Given the description of an element on the screen output the (x, y) to click on. 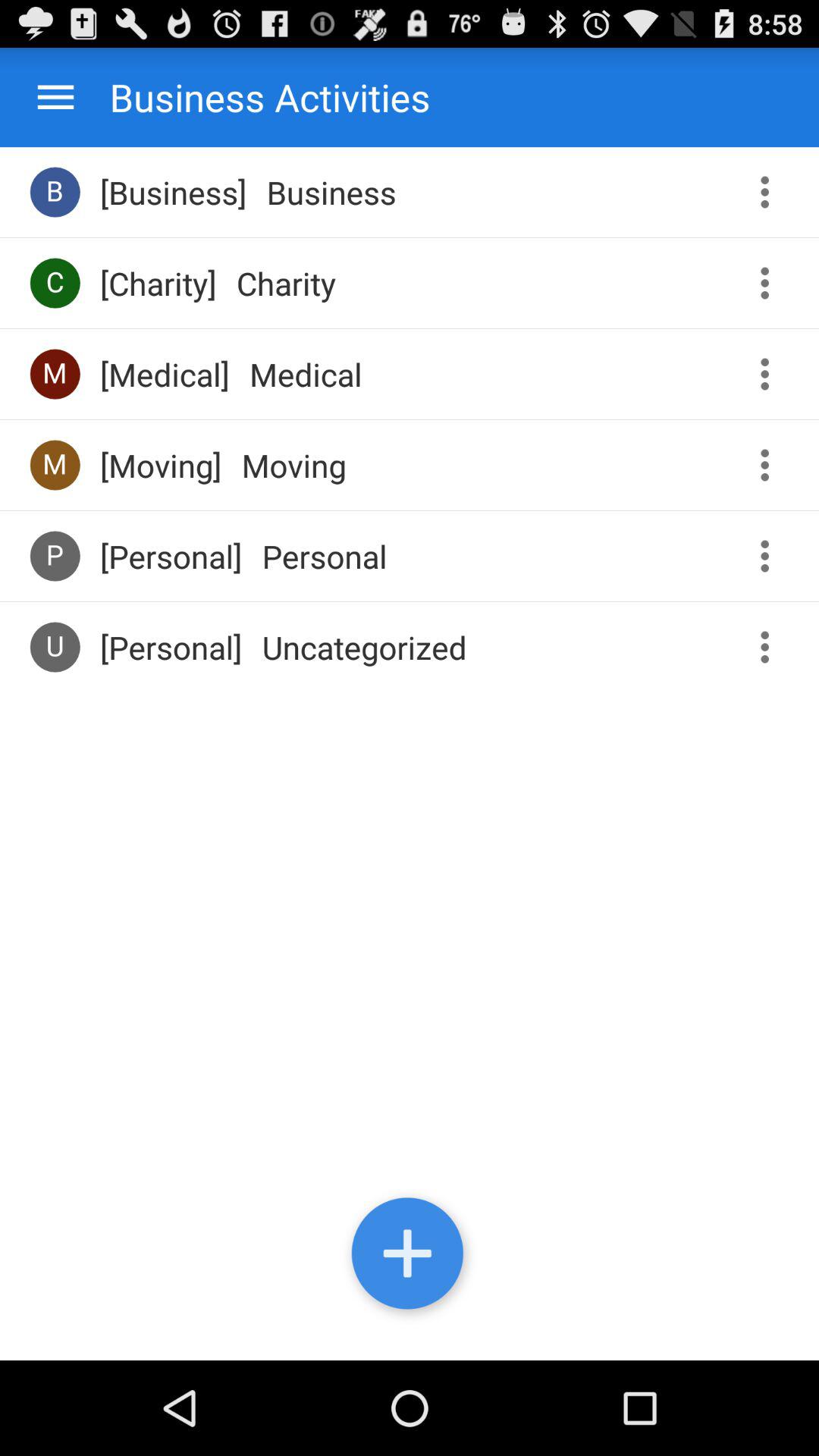
charity information toggle (770, 283)
